Given the description of an element on the screen output the (x, y) to click on. 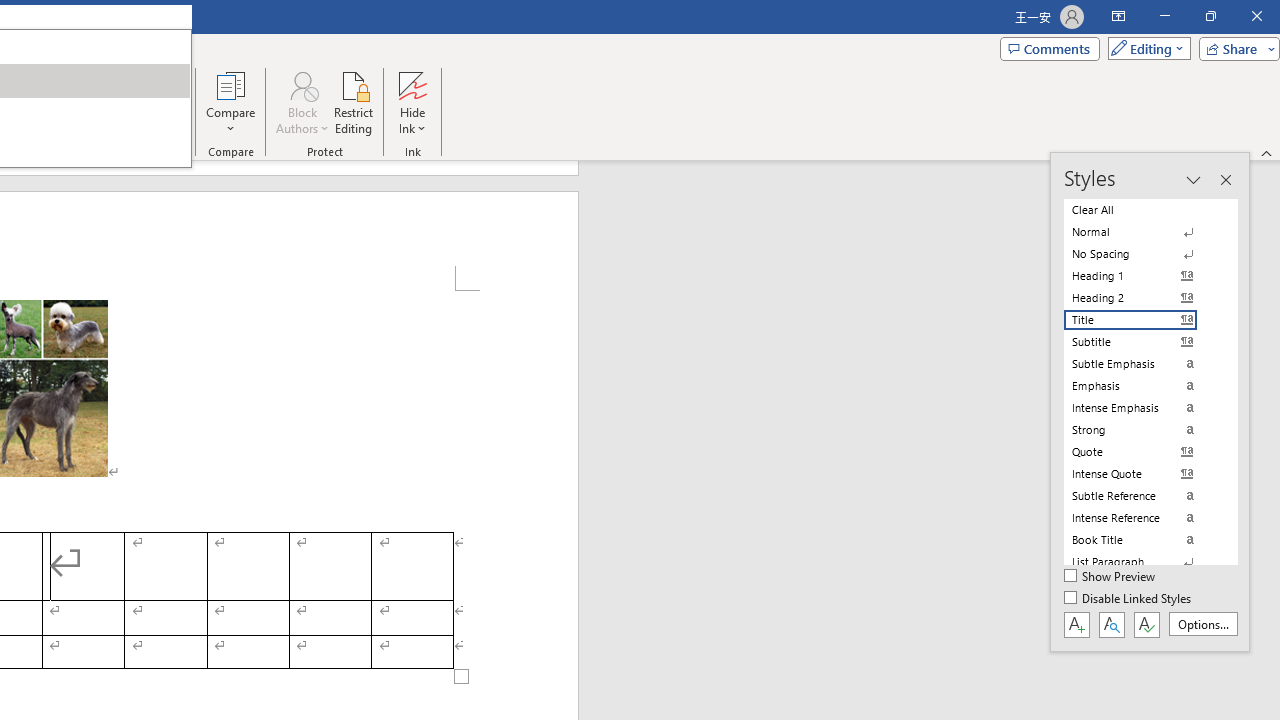
Subtitle (1142, 341)
Options... (1202, 623)
Heading 1 (1142, 275)
Class: NetUIButton (1146, 624)
Block Authors (302, 84)
